Given the description of an element on the screen output the (x, y) to click on. 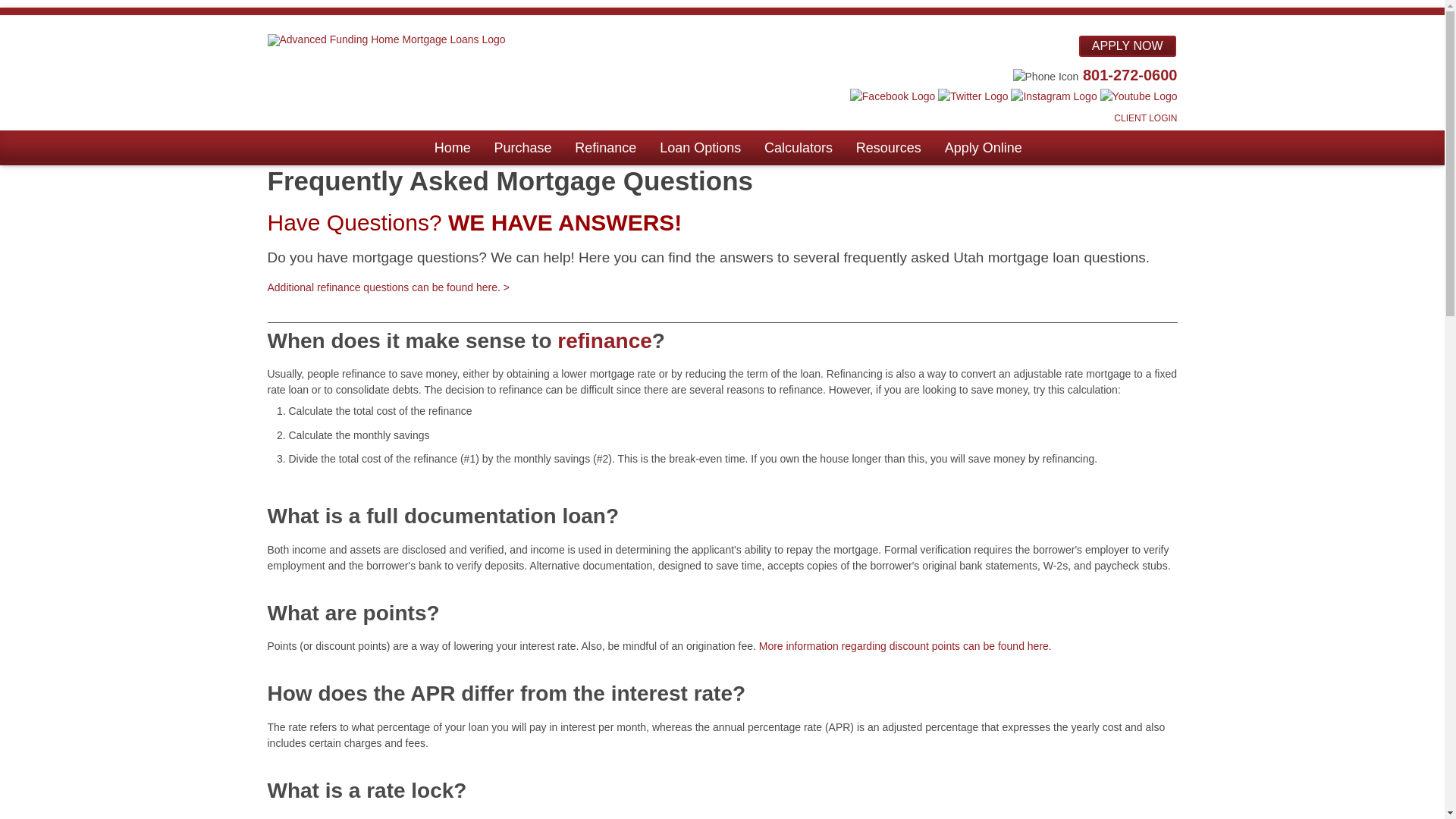
Calculators (798, 147)
Refinance (605, 147)
APPLY NOW (1127, 45)
CLIENT LOGIN (1144, 117)
801-272-0600 (1130, 74)
Home (451, 147)
Purchase (522, 147)
Resources (888, 147)
Loan Options (699, 147)
